Given the description of an element on the screen output the (x, y) to click on. 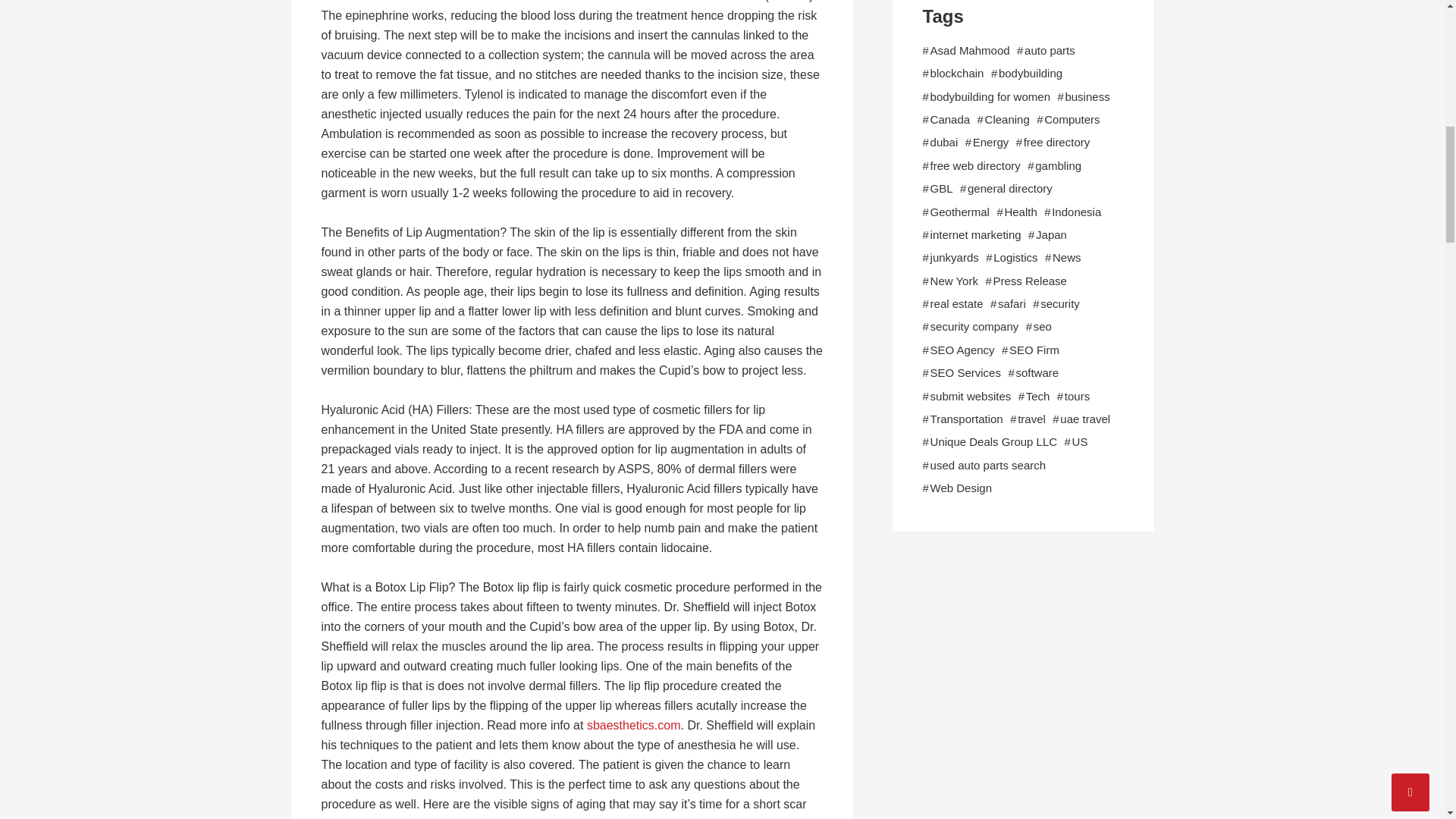
bodybuilding for women (989, 96)
Health (1020, 212)
Indonesia (1075, 212)
Computers (1071, 119)
Energy (990, 142)
business (1086, 96)
Canada (950, 119)
Asad Mahmood (970, 50)
News (1066, 257)
dubai (944, 142)
